Given the description of an element on the screen output the (x, y) to click on. 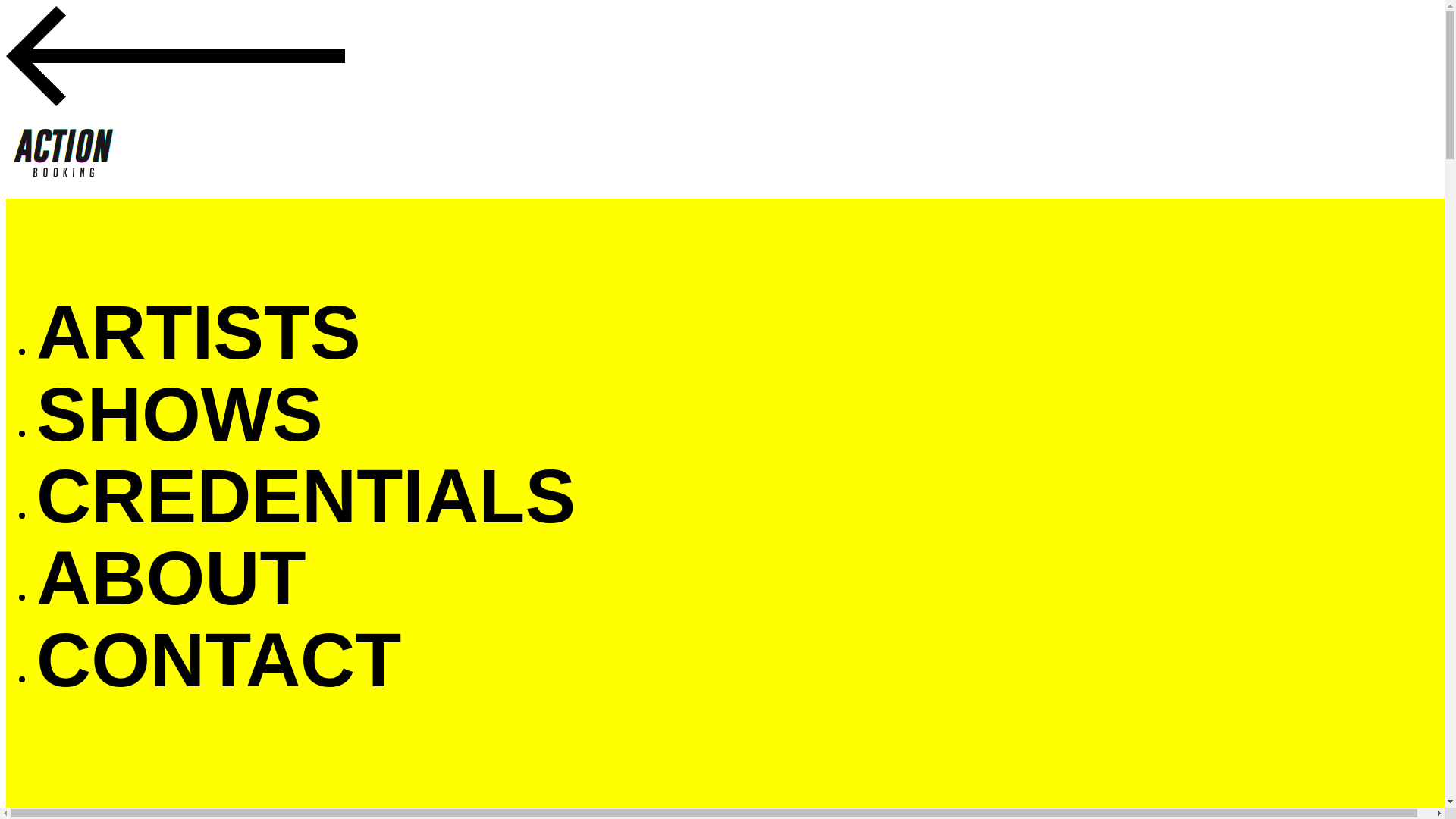
CONTACT Element type: text (218, 659)
CREDENTIALS Element type: text (305, 495)
SHOWS Element type: text (179, 413)
Homepage - Action Booking Element type: hover (62, 152)
ARTISTS Element type: text (198, 331)
ABOUT Element type: text (171, 577)
